Given the description of an element on the screen output the (x, y) to click on. 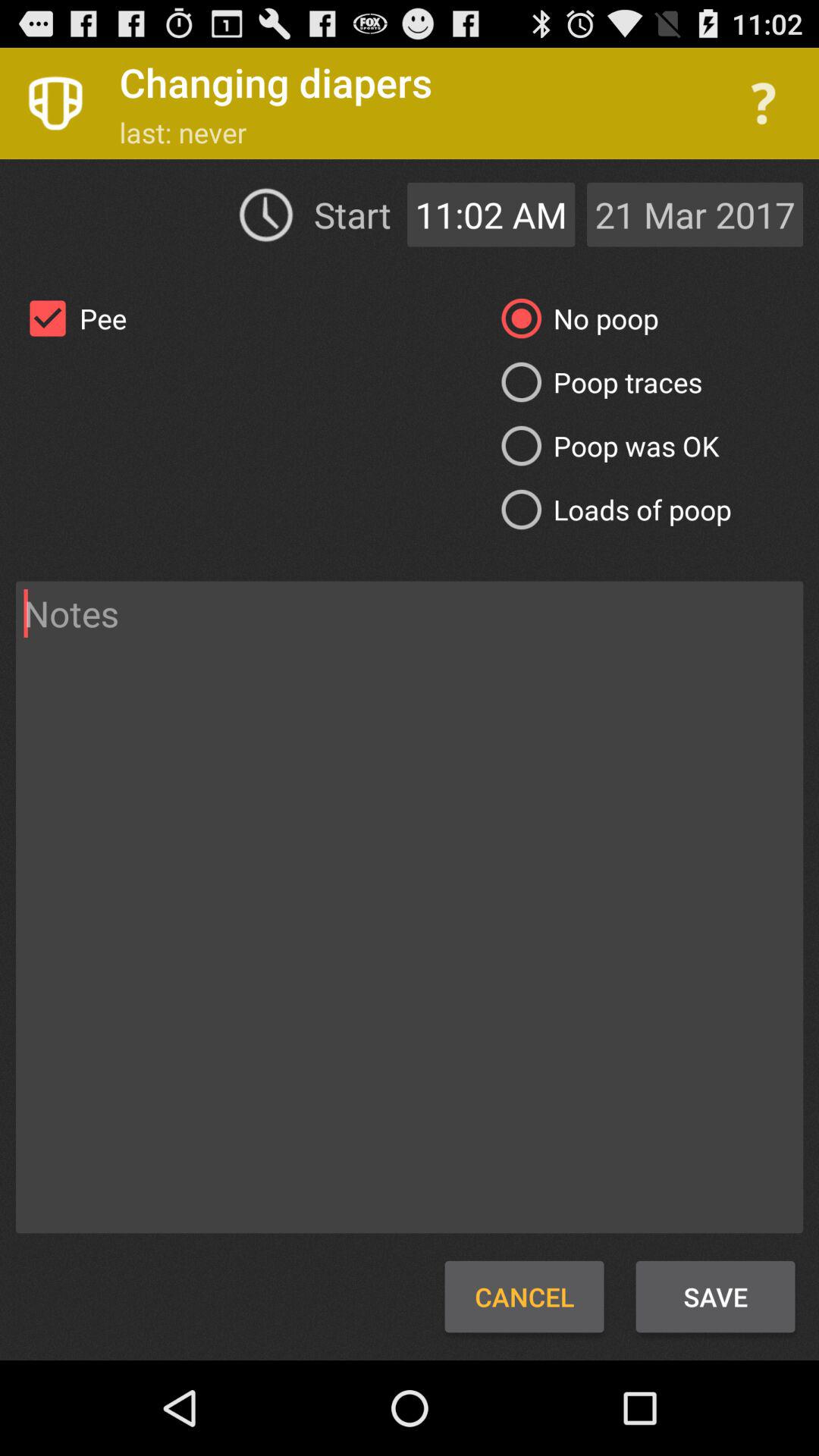
scroll to no poop icon (573, 318)
